Given the description of an element on the screen output the (x, y) to click on. 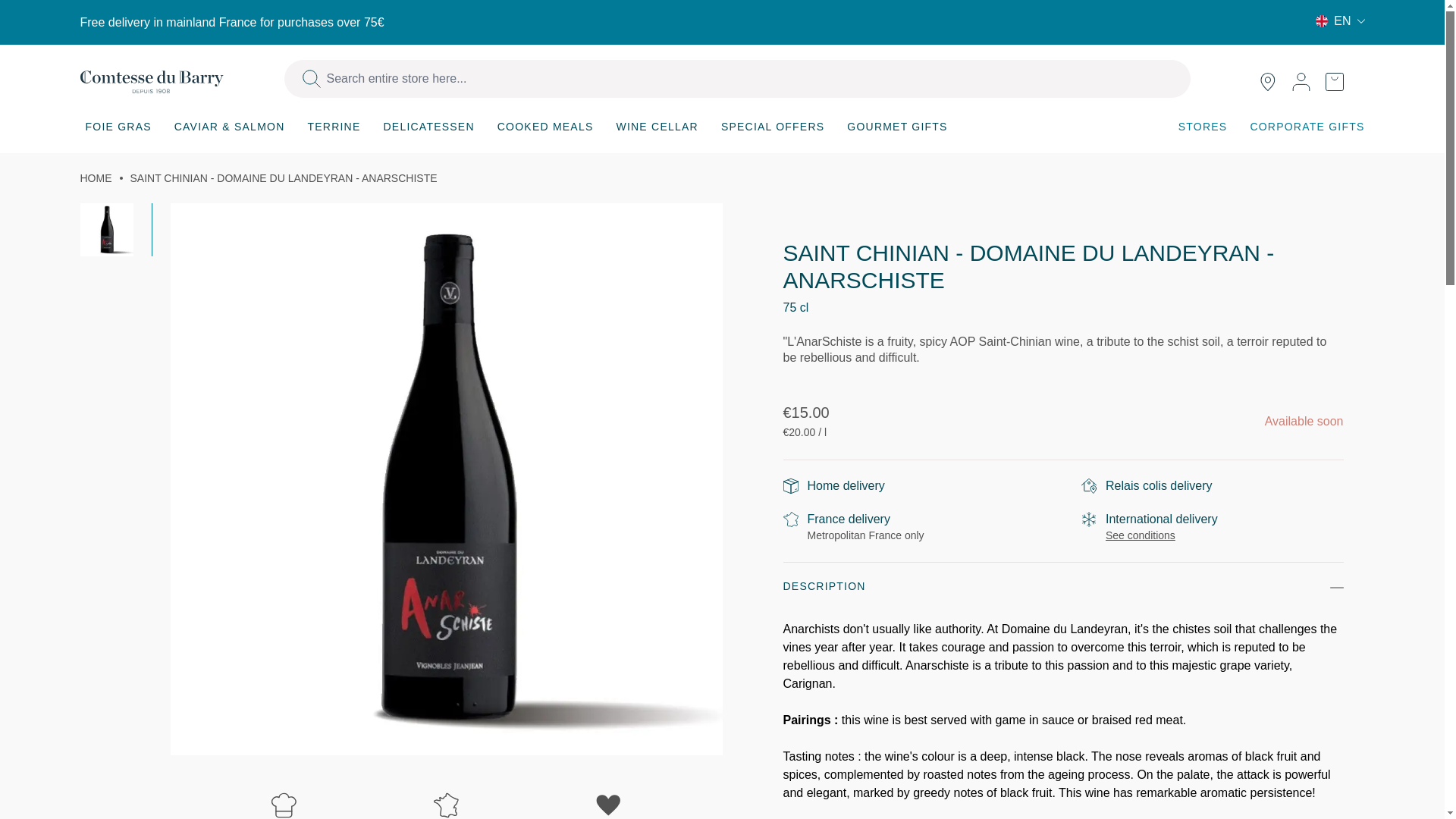
EN (1340, 21)
Cart (1341, 81)
Our shops (1267, 81)
